Given the description of an element on the screen output the (x, y) to click on. 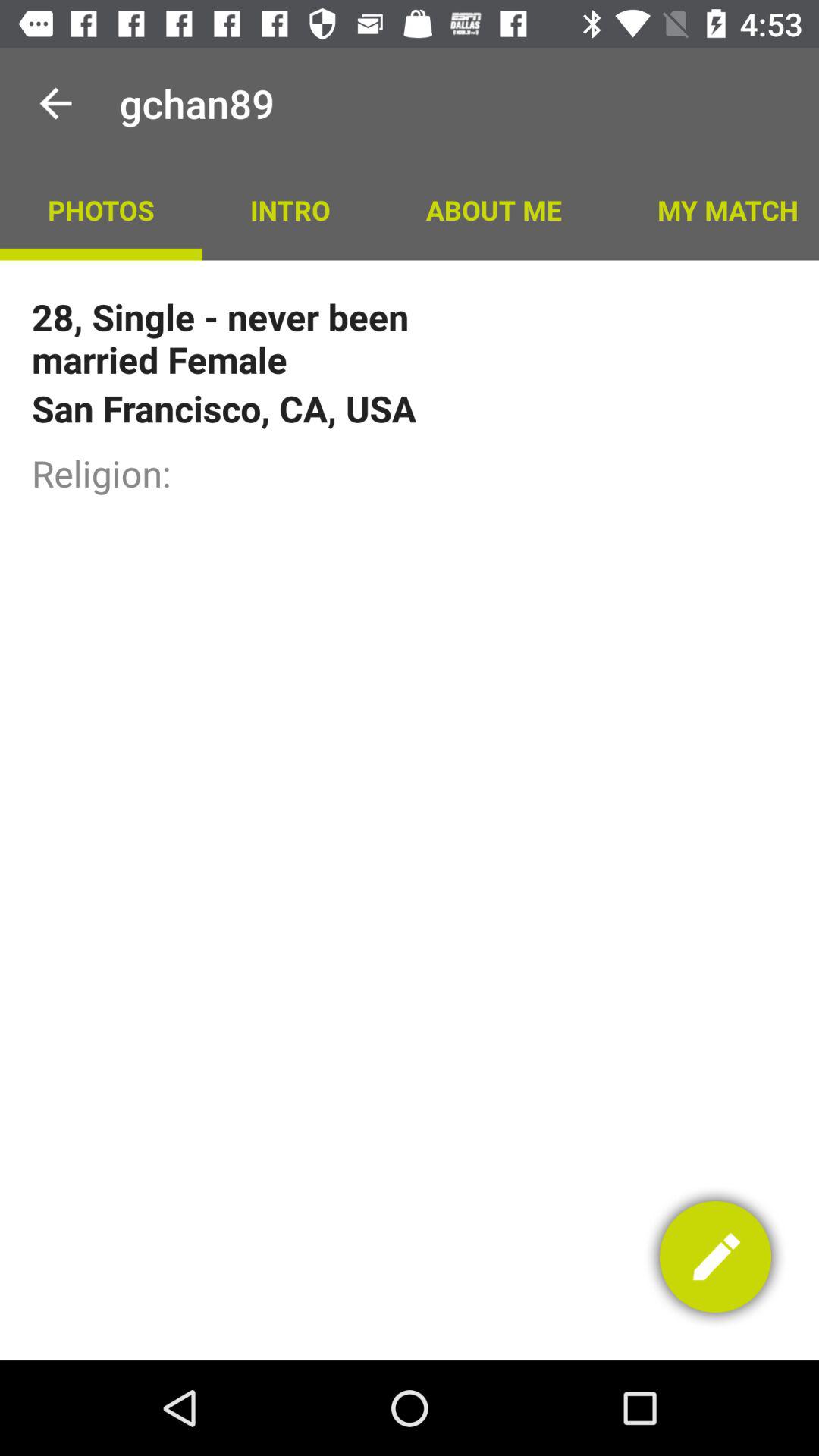
turn off my match icon (714, 209)
